Given the description of an element on the screen output the (x, y) to click on. 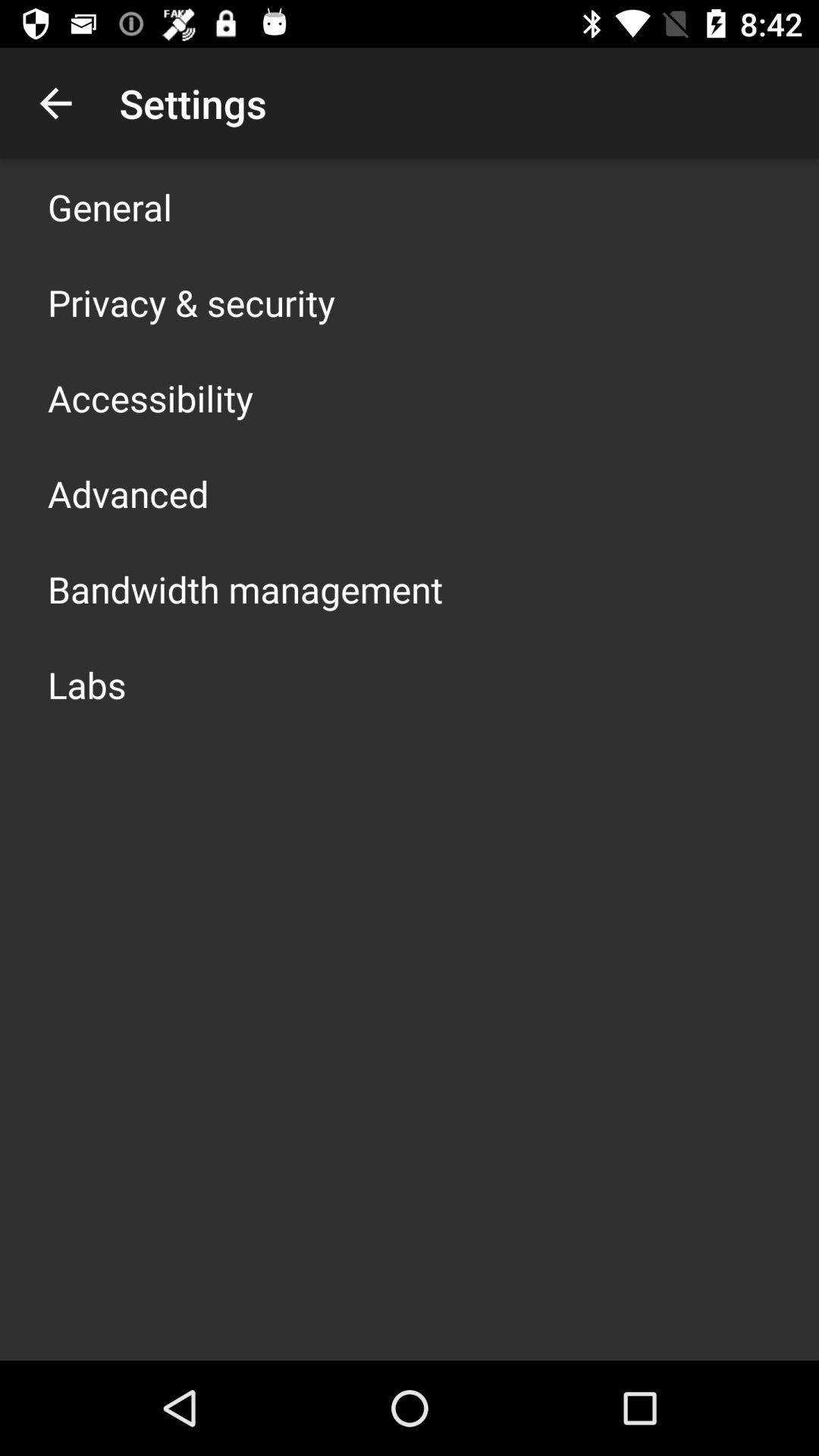
tap the accessibility icon (150, 397)
